Given the description of an element on the screen output the (x, y) to click on. 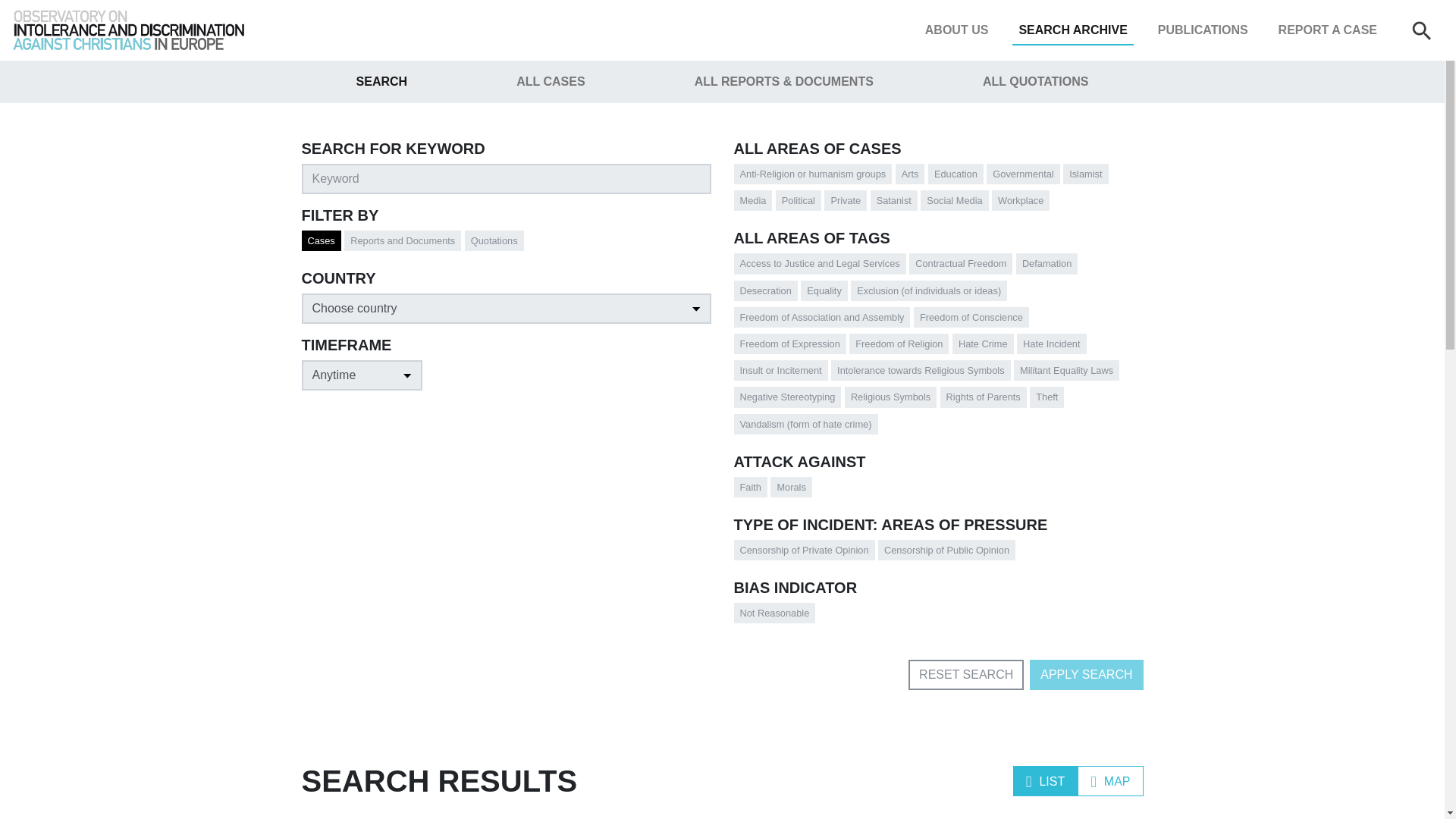
SEARCH ARCHIVE (1071, 30)
7 (811, 288)
95 (881, 198)
30 (744, 198)
33 (744, 171)
48 (744, 261)
27 (1002, 198)
Publications (1202, 30)
Report a case (1327, 30)
Search archive (1071, 30)
